Given the description of an element on the screen output the (x, y) to click on. 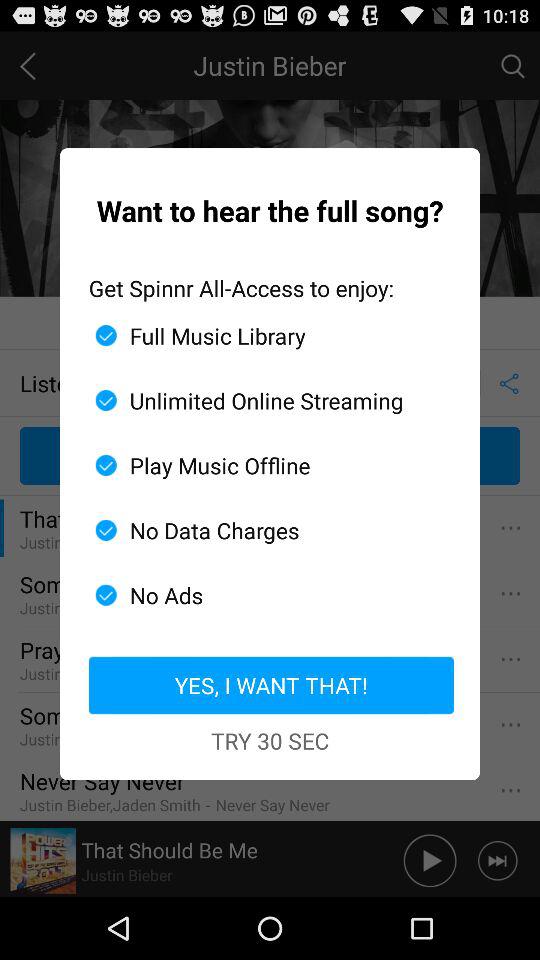
press the icon above the yes i want button (261, 595)
